Given the description of an element on the screen output the (x, y) to click on. 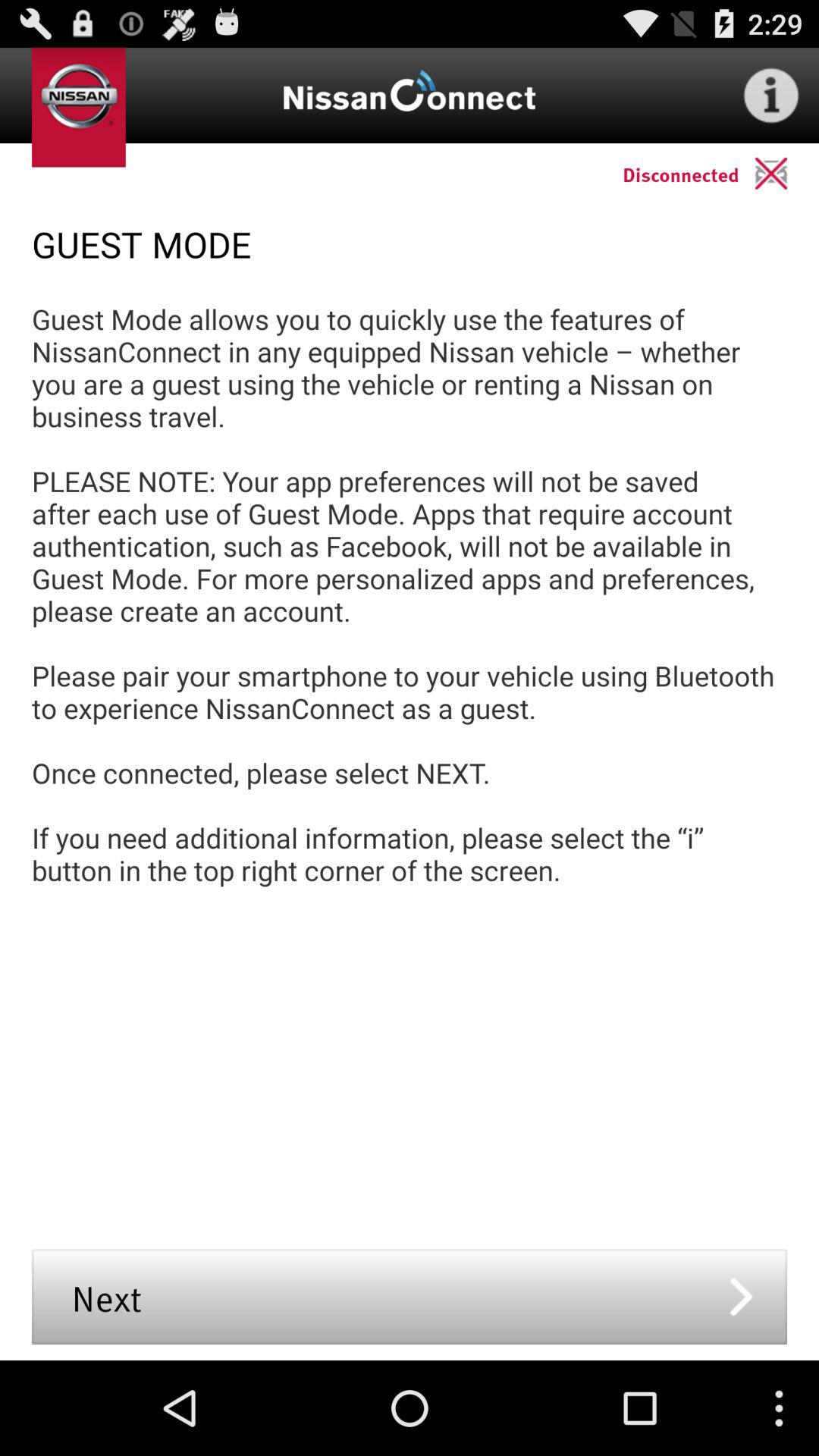
press the next at the bottom (409, 1296)
